Given the description of an element on the screen output the (x, y) to click on. 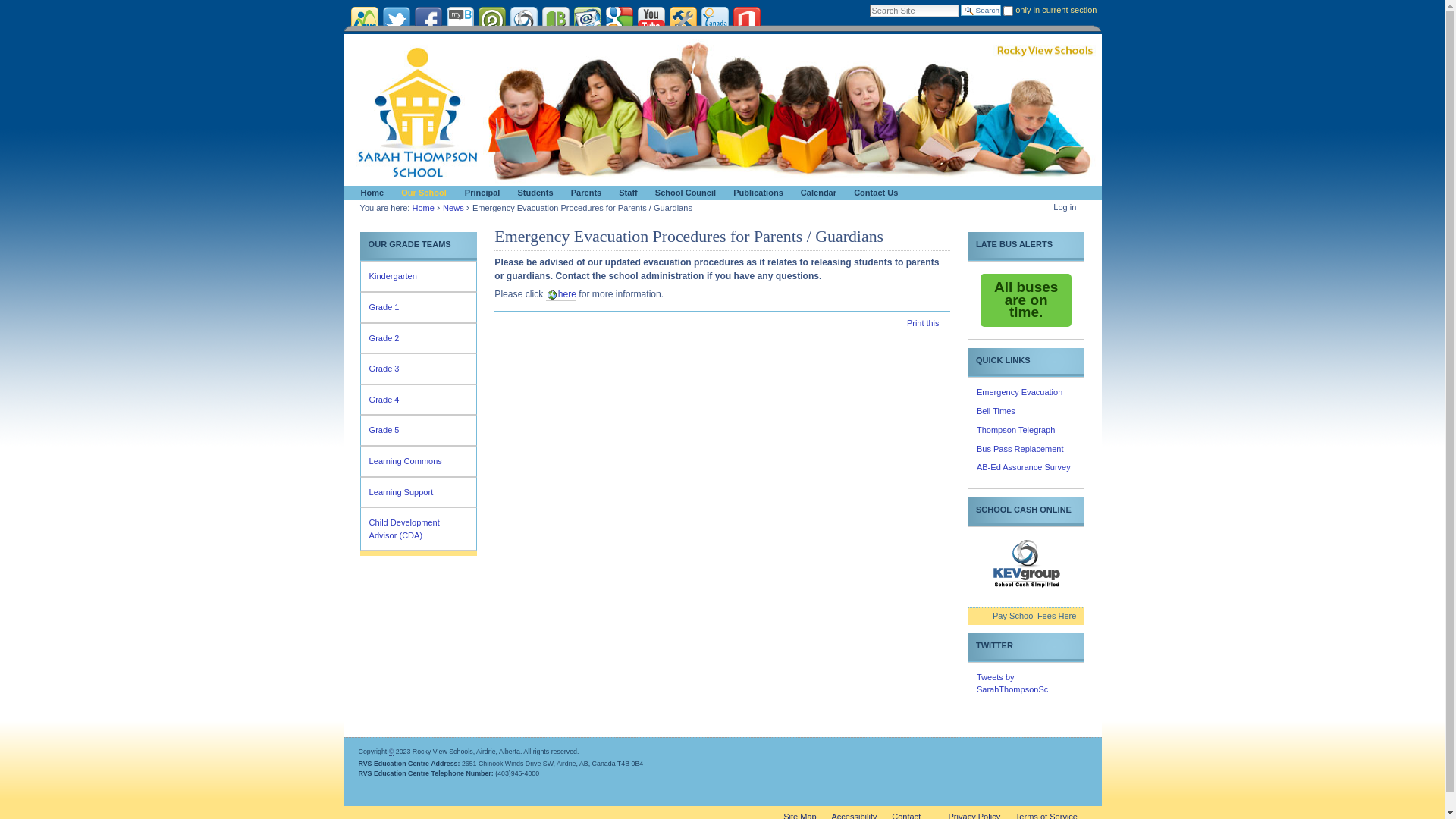
Students Element type: text (532, 192)
Search Site Element type: hover (913, 10)
Learning Commons Element type: text (418, 461)
Bus Pass Replacement Element type: text (1019, 448)
School Cash Element type: hover (1025, 563)
Parents Element type: text (583, 192)
Tweets by SarahThompsonSc Element type: text (1012, 683)
Home Element type: text (423, 207)
SCHOOL CASH ONLINE Element type: text (1025, 509)
Thompson Telegraph Element type: text (1015, 429)
My Blueprint Element type: hover (459, 19)
Learning Support Element type: text (418, 492)
Grade 1 Element type: text (418, 307)
Principal Element type: text (479, 192)
Grade 4 Element type: text (418, 399)
Child Development Advisor (CDA) Element type: text (418, 528)
All buses are on time. Element type: text (1025, 299)
Publications Element type: text (755, 192)
Rocky View Corporate Site Element type: hover (363, 19)
Facebook Element type: hover (427, 19)
Grade 2 Element type: text (418, 338)
here Element type: text (561, 294)
Twitter Element type: hover (395, 19)
YouTube Element type: hover (650, 19)
News Element type: text (453, 207)
RVS Gmail Element type: hover (586, 19)
Search Element type: text (980, 9)
Bibliovation Element type: hover (554, 19)
Kindergarten Element type: text (418, 275)
Tech Support Element type: hover (682, 19)
Grade 3 Element type: text (418, 368)
Log in Element type: text (1064, 206)
Power School Element type: hover (491, 19)
Bell Times Element type: text (995, 410)
Pay School Fees Here Element type: text (1025, 615)
Donations Element type: hover (714, 19)
Office 365 Element type: hover (745, 19)
AB-Ed Assurance Survey Element type: text (1023, 466)
Home Element type: text (369, 192)
Calendar Element type: text (815, 192)
Staff Element type: text (625, 192)
School Council Element type: text (683, 192)
Emergency Evacuation Element type: text (1019, 391)
School Cash Net Element type: hover (522, 19)
Google Element type: hover (618, 19)
Our School Element type: text (421, 192)
Print this Element type: text (922, 322)
Contact Us Element type: text (873, 192)
Grade 5 Element type: text (418, 429)
